Given the description of an element on the screen output the (x, y) to click on. 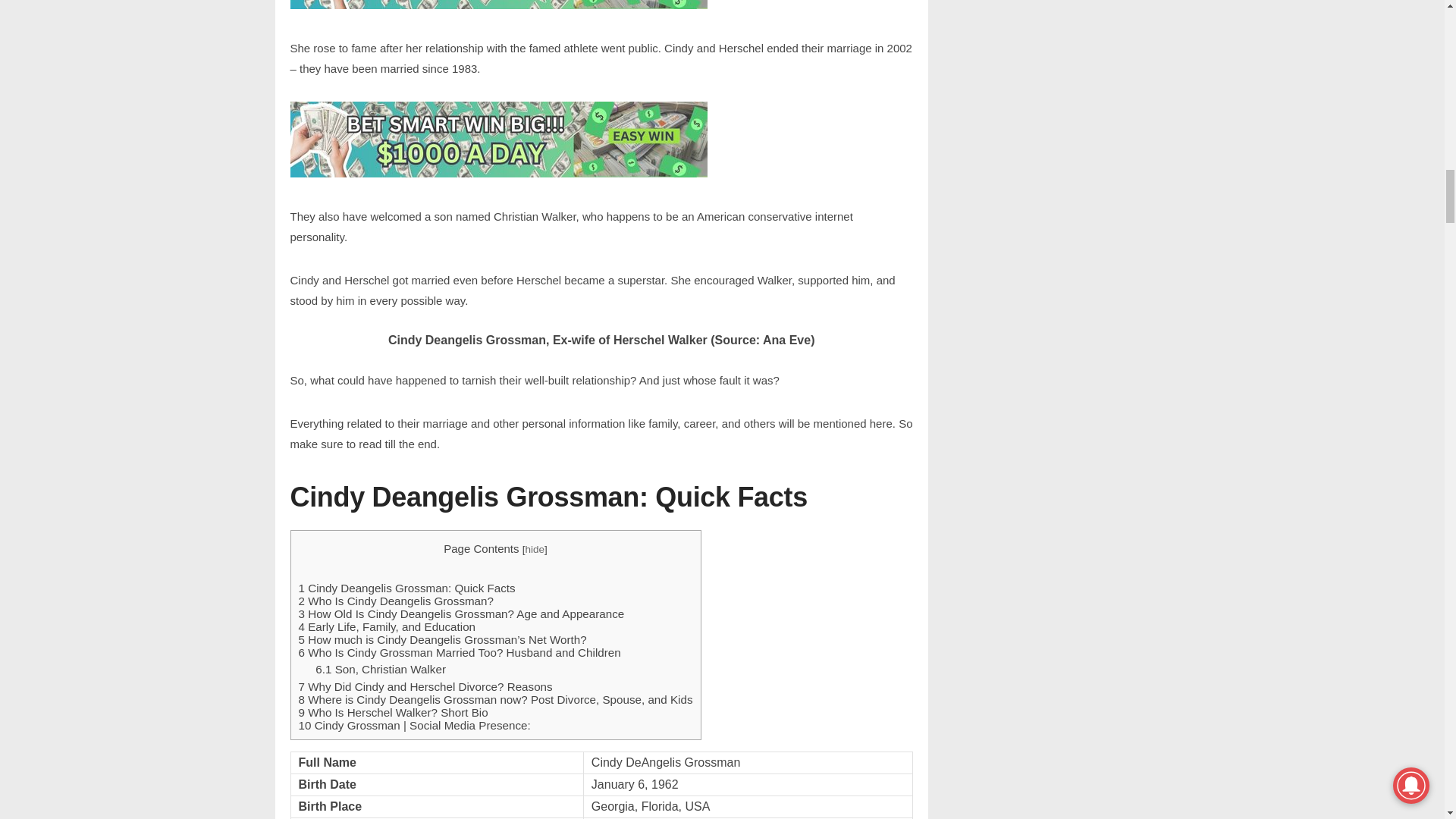
1 Cindy Deangelis Grossman: Quick Facts (406, 587)
4 Early Life, Family, and Education (387, 626)
3 How Old Is Cindy Deangelis Grossman? Age and Appearance (461, 613)
2 Who Is Cindy Deangelis Grossman? (395, 600)
hide (534, 549)
